Given the description of an element on the screen output the (x, y) to click on. 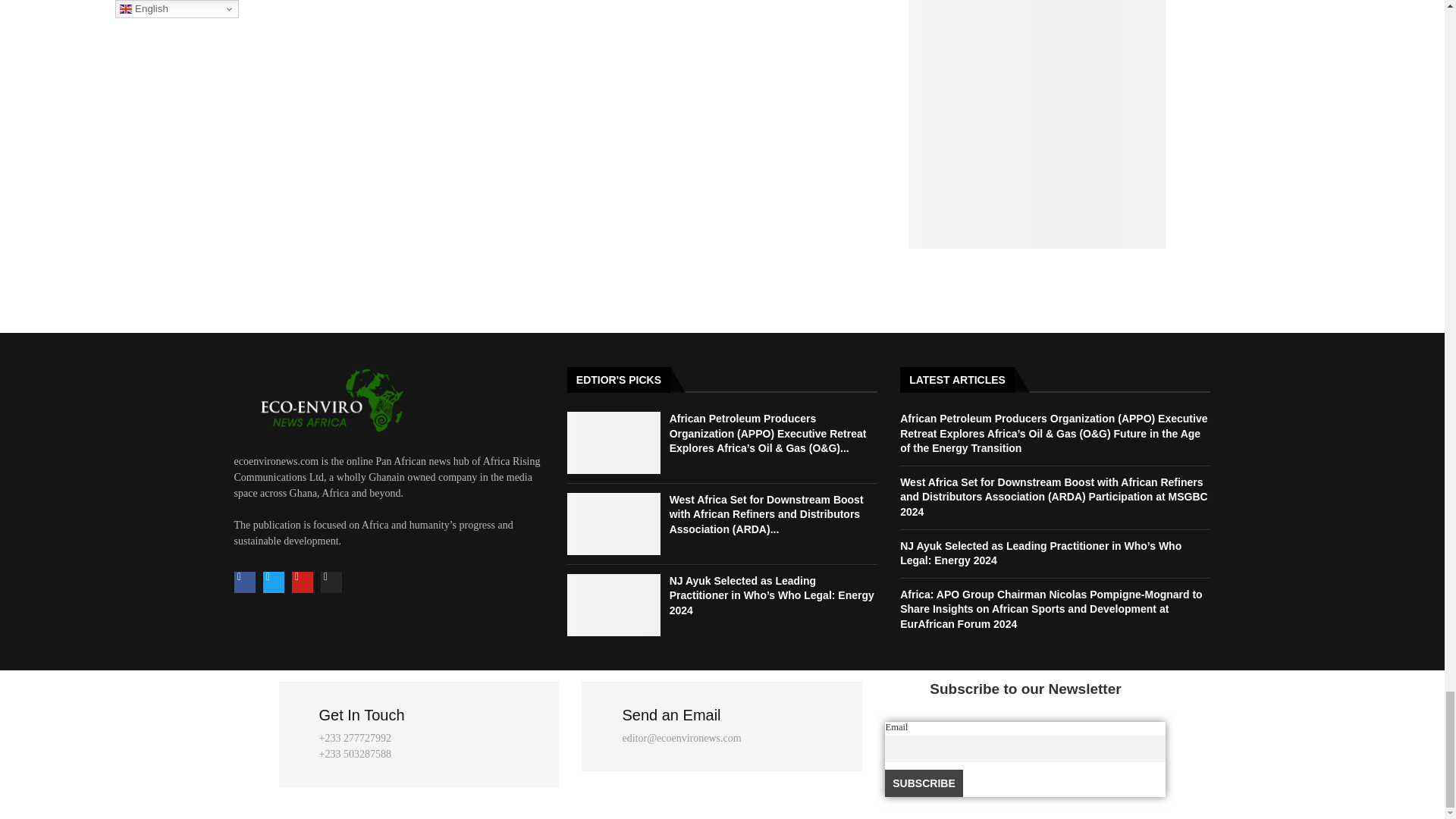
Subscribe (923, 782)
